Given the description of an element on the screen output the (x, y) to click on. 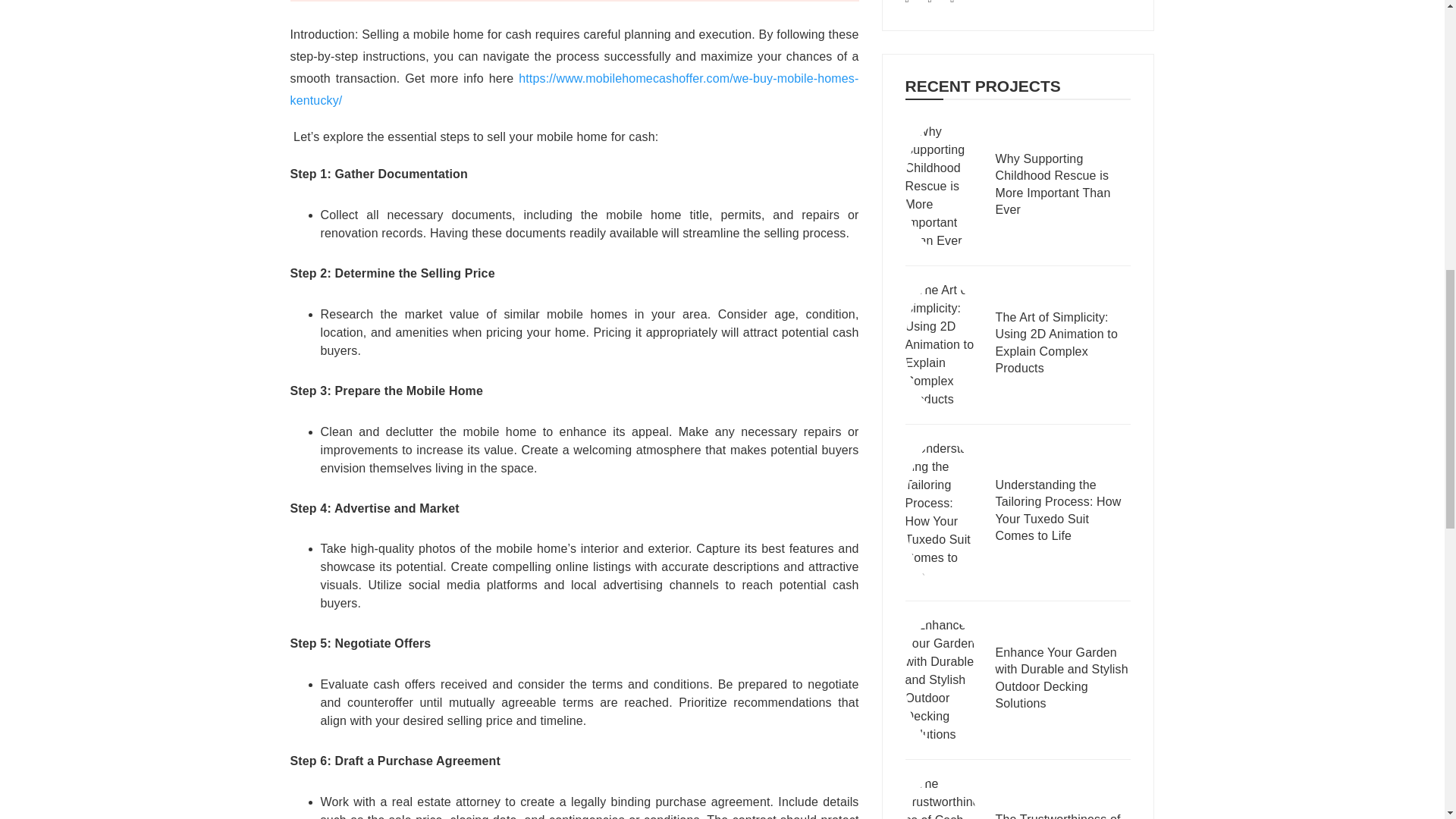
Why Supporting Childhood Rescue is More Important Than Ever (1062, 186)
